Given the description of an element on the screen output the (x, y) to click on. 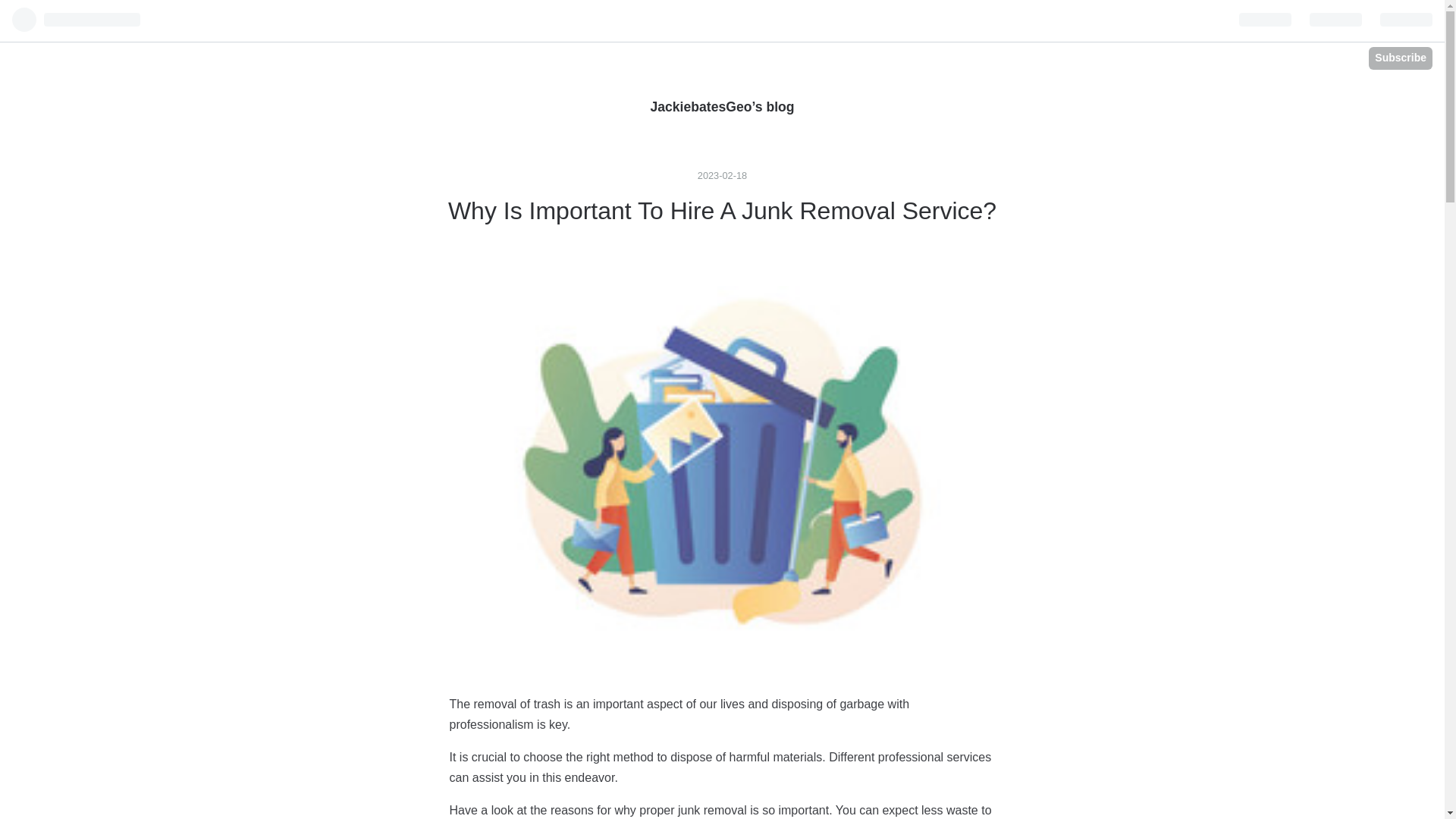
Why Is Important To Hire A Junk Removal Service? (721, 210)
2023-02-18 (721, 174)
2023-02-18T04:55:38Z (721, 174)
Subscribe (1400, 57)
